Given the description of an element on the screen output the (x, y) to click on. 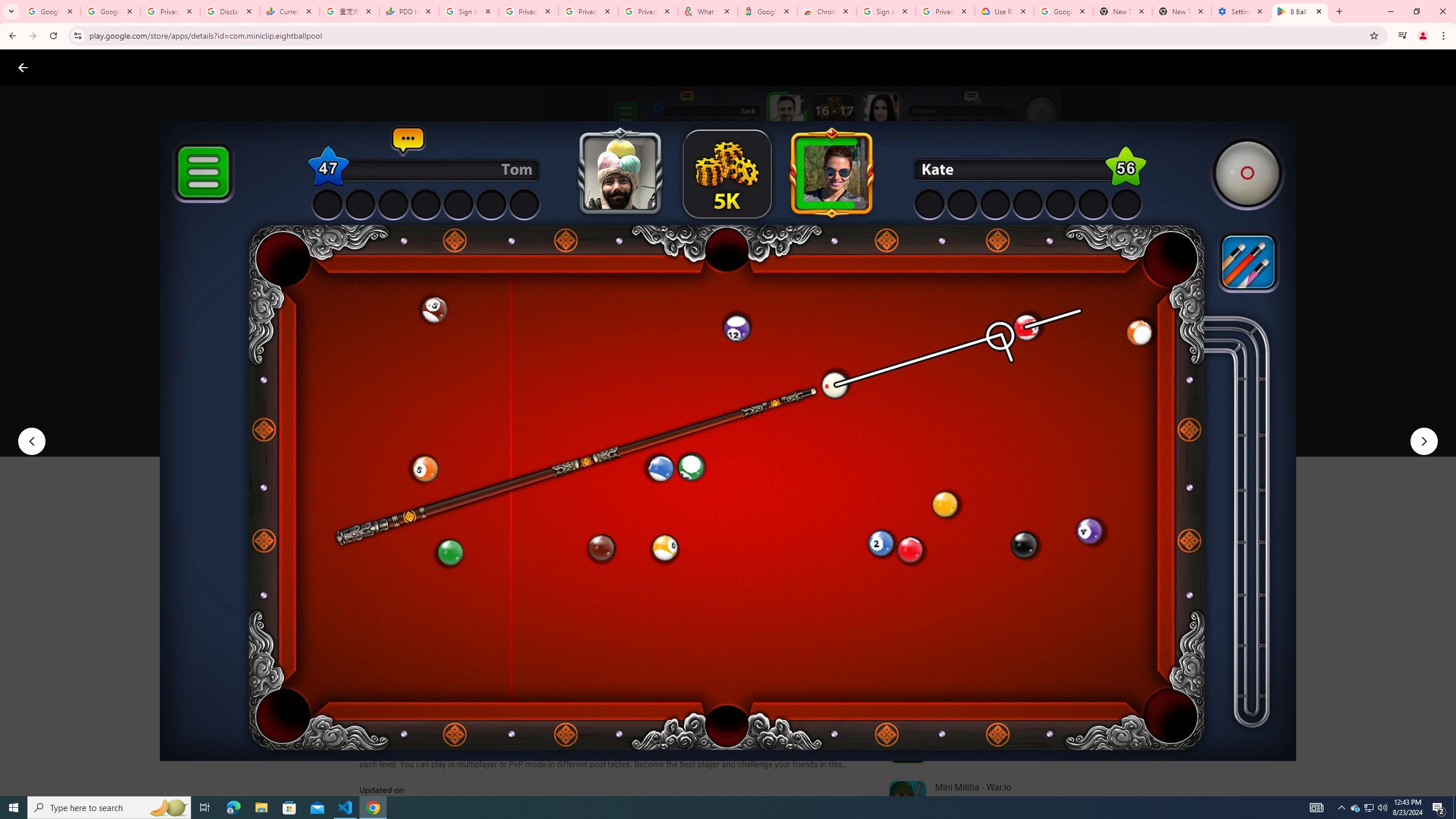
Content rating (553, 373)
New Tab (1182, 11)
Previous (31, 441)
8 Ball Pool - Apps on Google Play (1300, 11)
Sign in - Google Accounts (468, 11)
Add to wishlist (576, 422)
More info about this content rating (575, 385)
Expand (978, 497)
Screenshot image (817, 563)
